Given the description of an element on the screen output the (x, y) to click on. 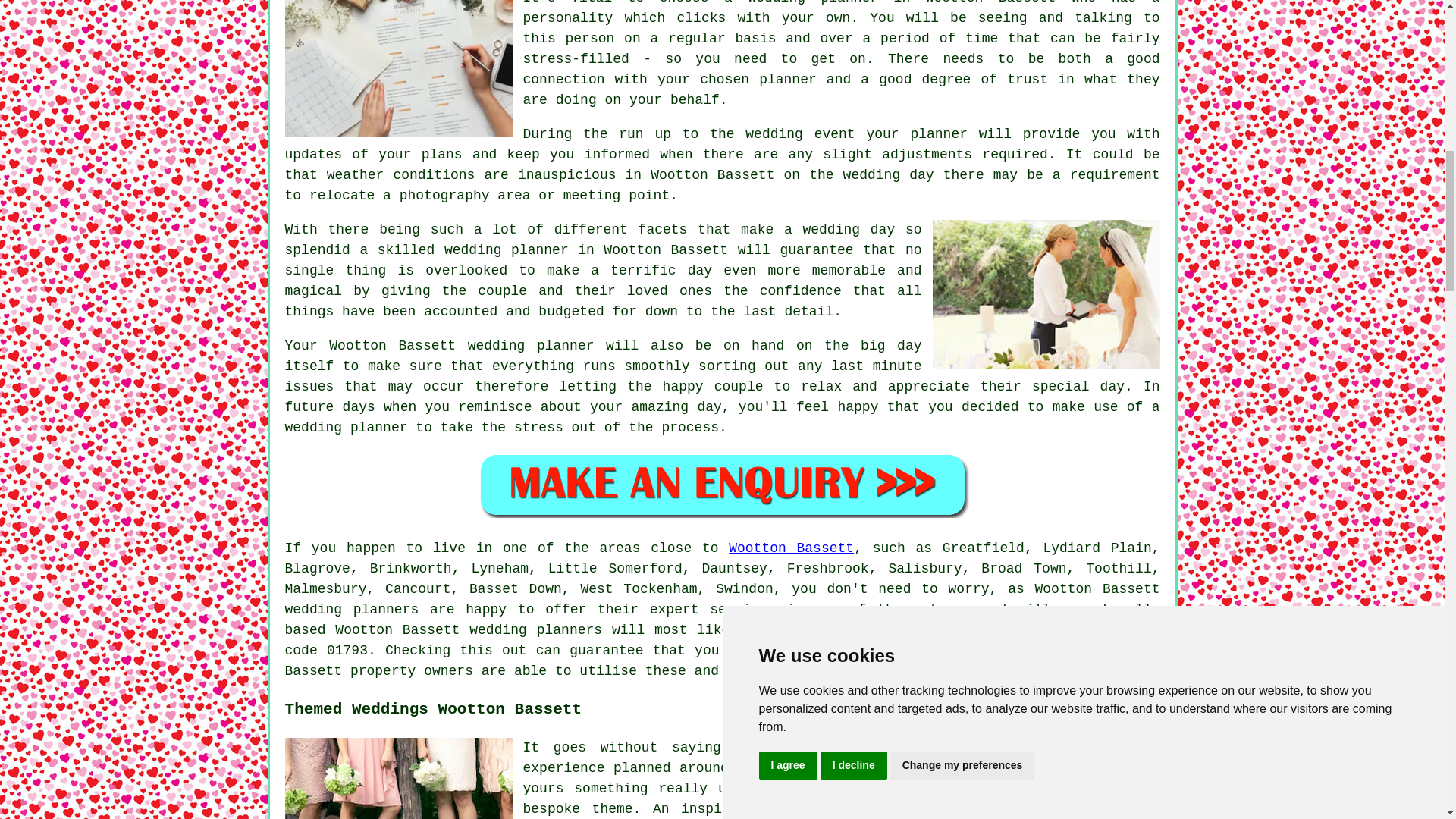
wedding planners (352, 609)
Click to Find a Wedding Planner in Wootton Bassett (722, 484)
